Given the description of an element on the screen output the (x, y) to click on. 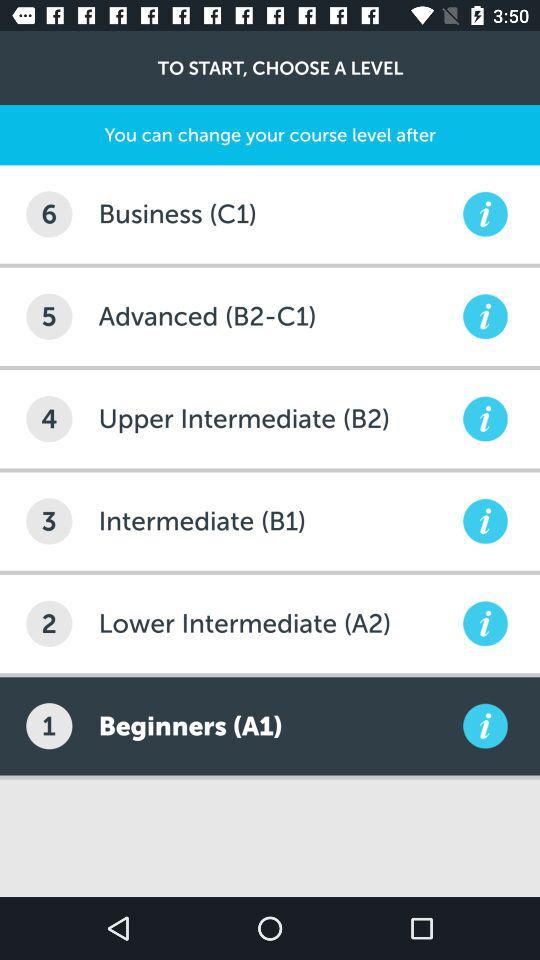
click the icon to the left of the advanced (b2-c1) (49, 316)
